Given the description of an element on the screen output the (x, y) to click on. 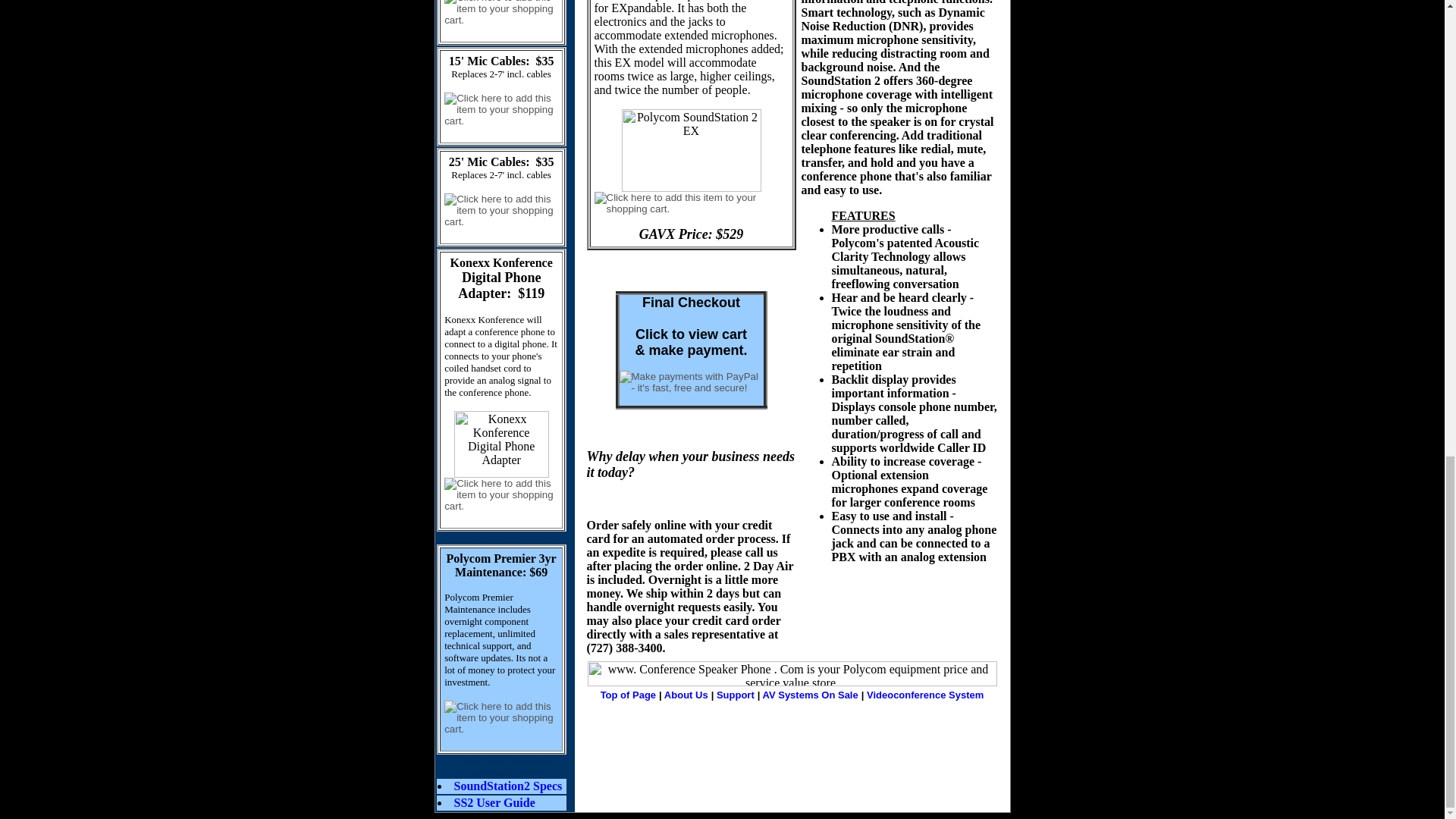
Videoconference System (925, 694)
AV Systems On Sale (811, 694)
SS2 User Guide (493, 802)
About Us (685, 694)
Top of Page (627, 694)
Support (735, 694)
SoundStation2 Specs (507, 785)
